Given the description of an element on the screen output the (x, y) to click on. 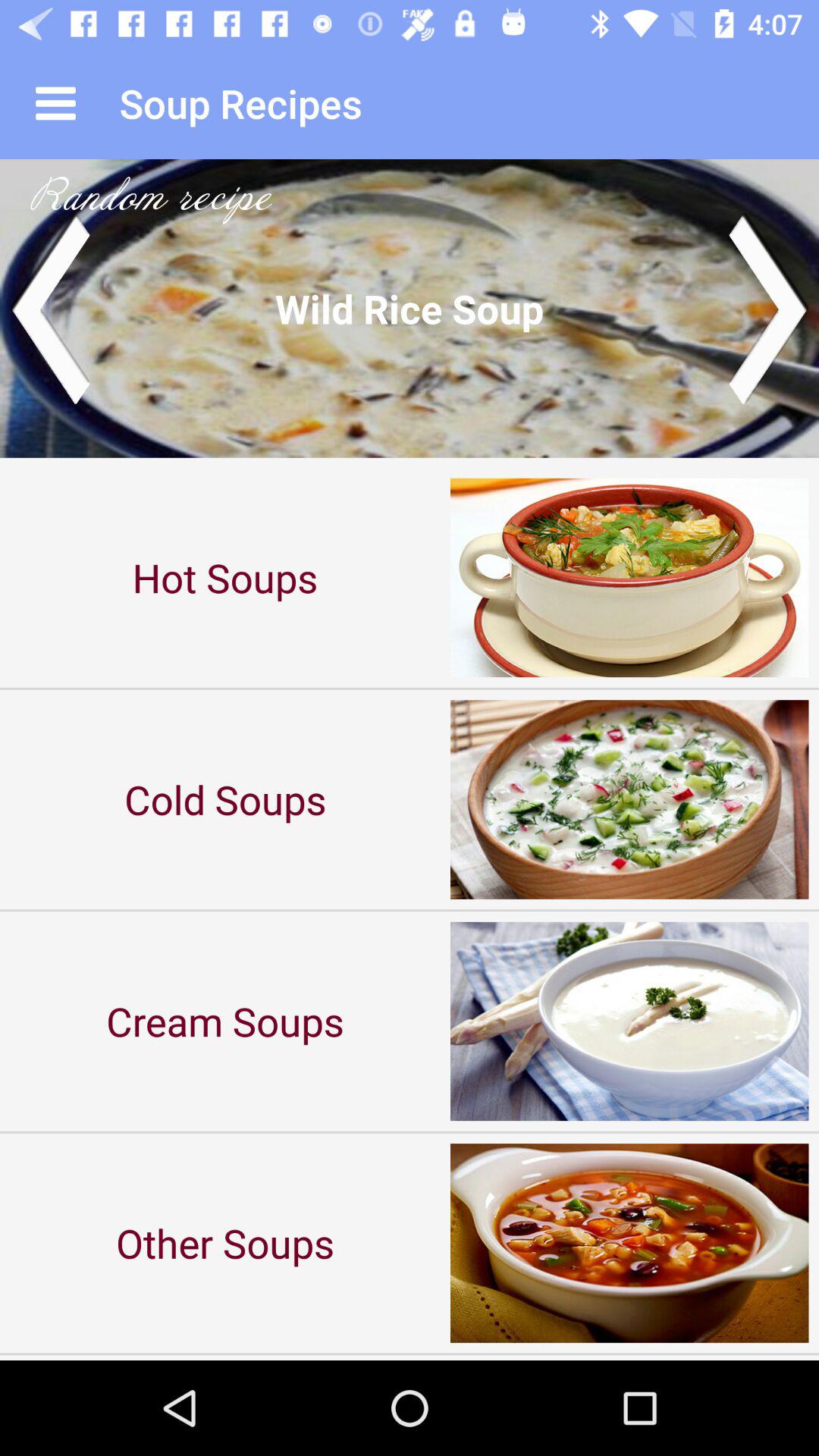
previous recipe (49, 308)
